Given the description of an element on the screen output the (x, y) to click on. 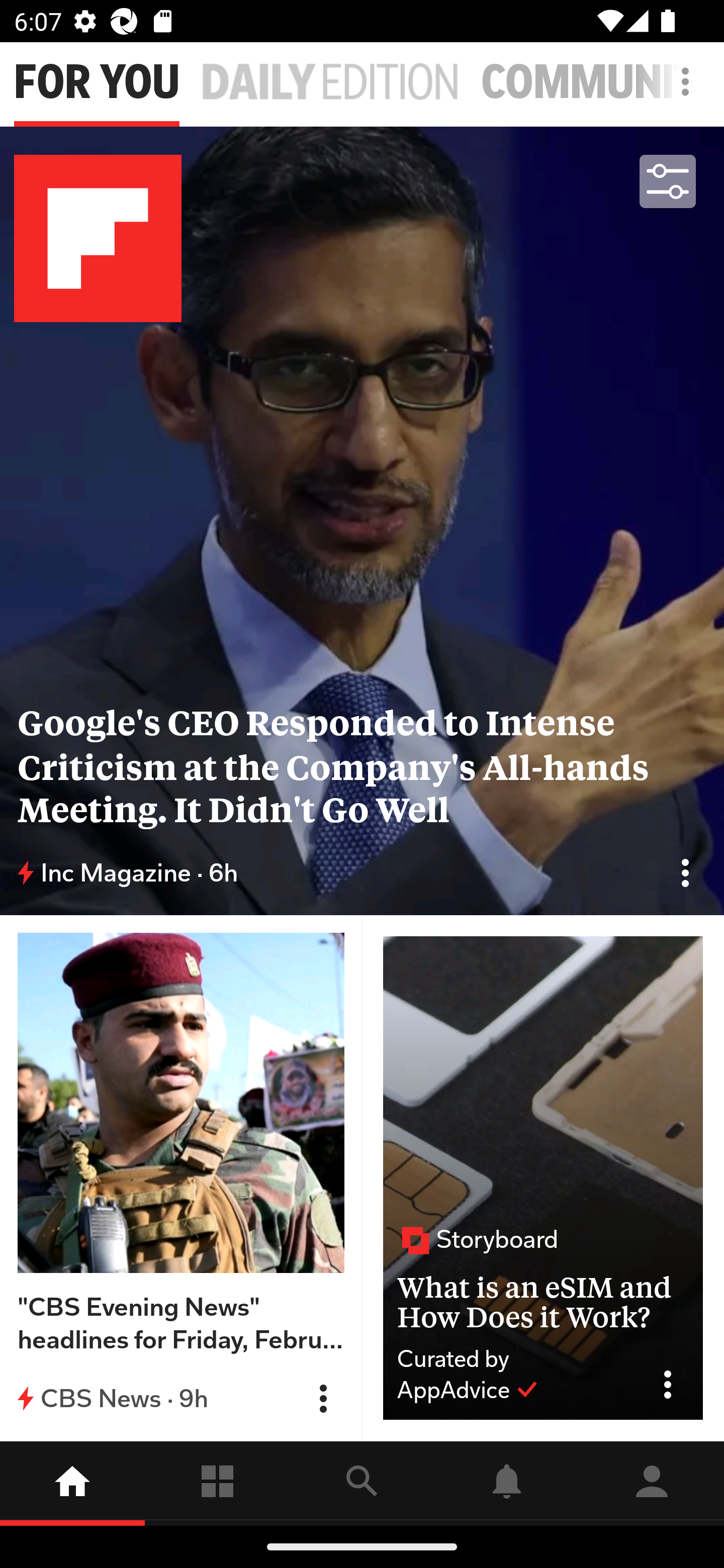
FOR YOU (96, 82)
COMMUNITY (602, 82)
Edit Home (679, 81)
Inc Magazine · 6h Flip into Magazine (362, 873)
Flip into Magazine (685, 872)
Curated by (514, 1359)
Share (674, 1385)
CBS News · 9h Flip into Magazine (181, 1398)
Flip into Magazine (323, 1398)
AppAdvice (467, 1389)
home (72, 1482)
Following (216, 1482)
explore (361, 1482)
Notifications (506, 1482)
Profile (651, 1482)
